Given the description of an element on the screen output the (x, y) to click on. 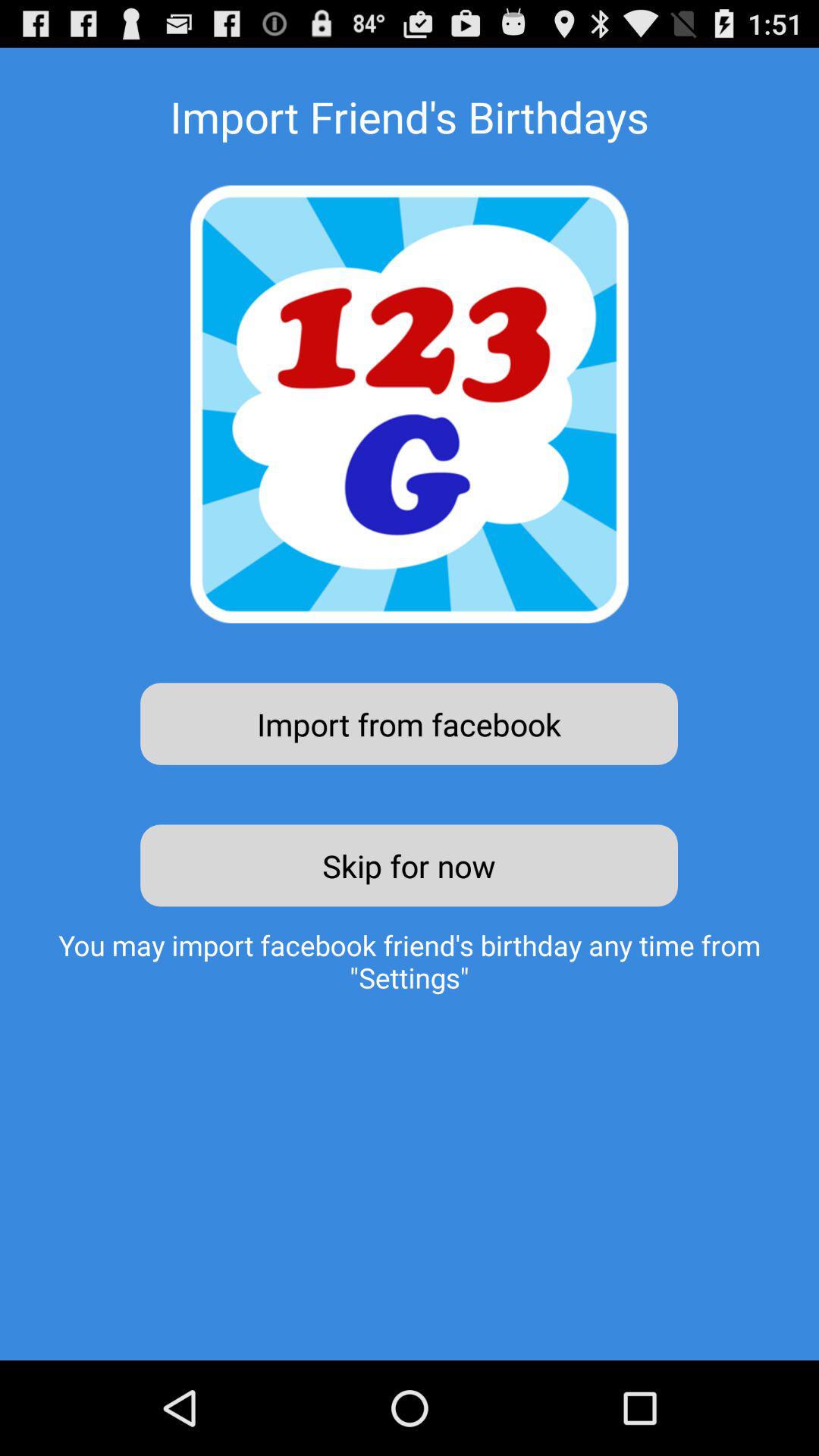
launch the skip for now icon (408, 865)
